Given the description of an element on the screen output the (x, y) to click on. 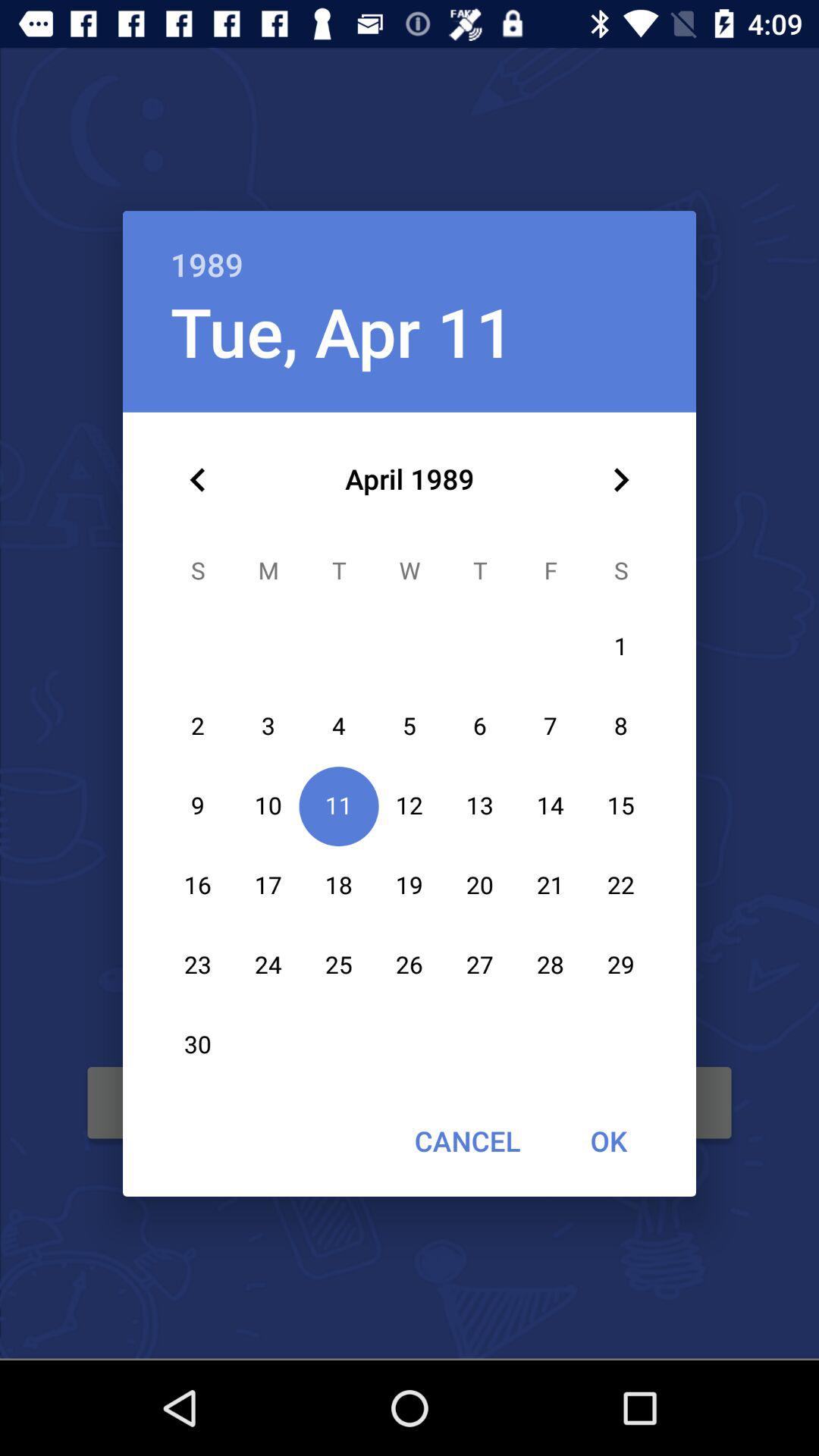
tap tue, apr 11 item (342, 331)
